Given the description of an element on the screen output the (x, y) to click on. 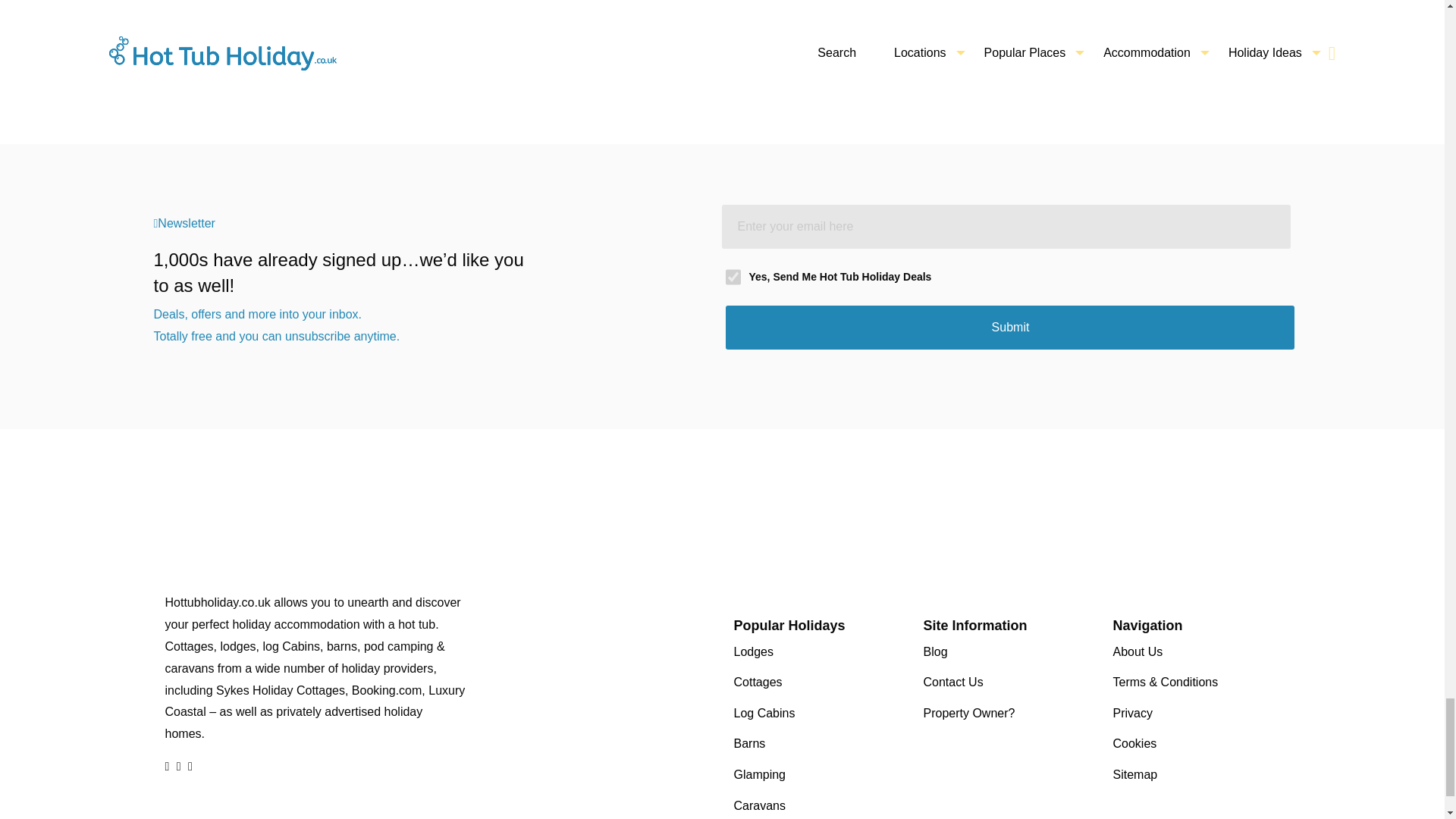
Submit (1009, 327)
